Given the description of an element on the screen output the (x, y) to click on. 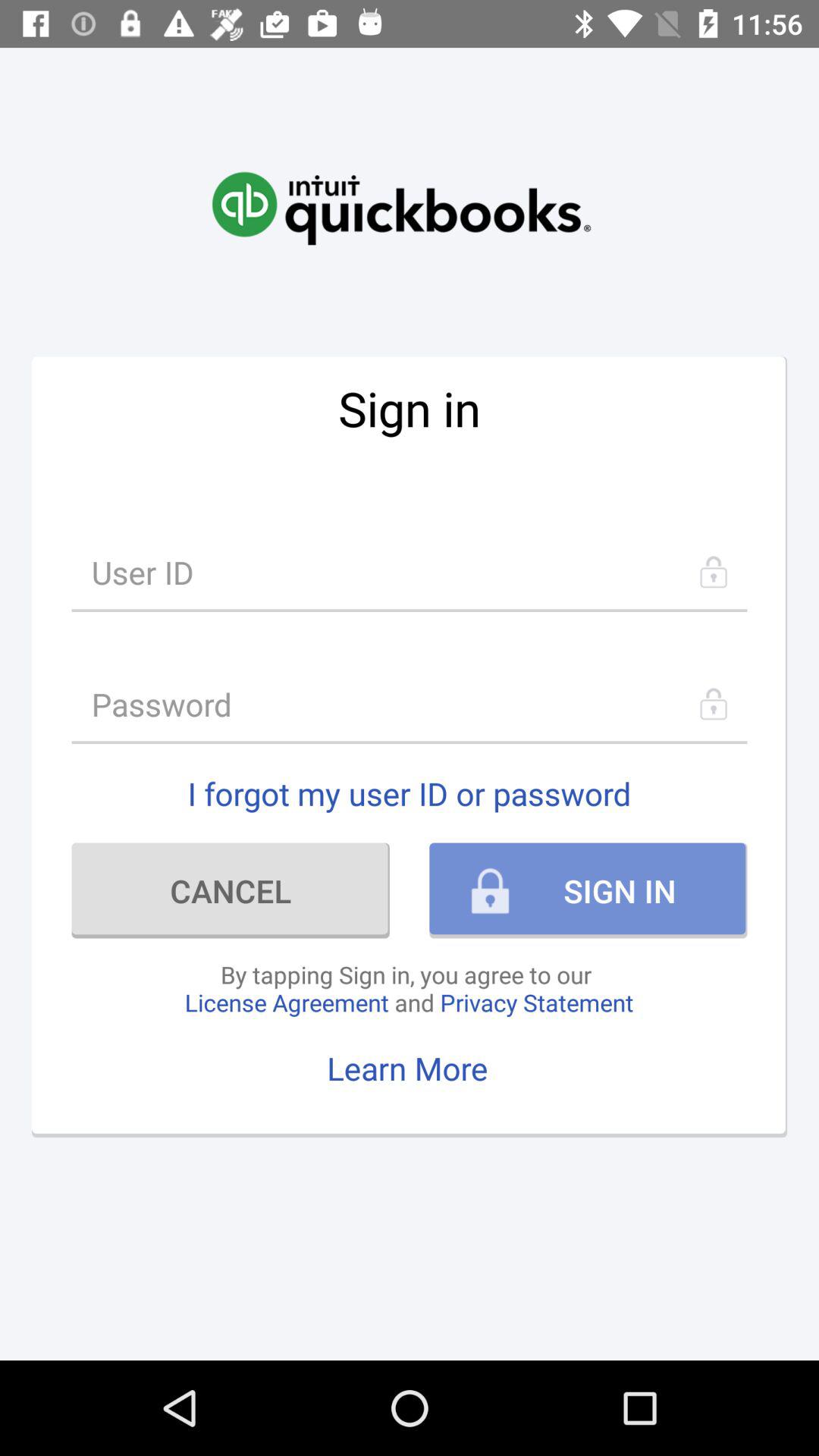
turn on icon on the left (230, 890)
